Given the description of an element on the screen output the (x, y) to click on. 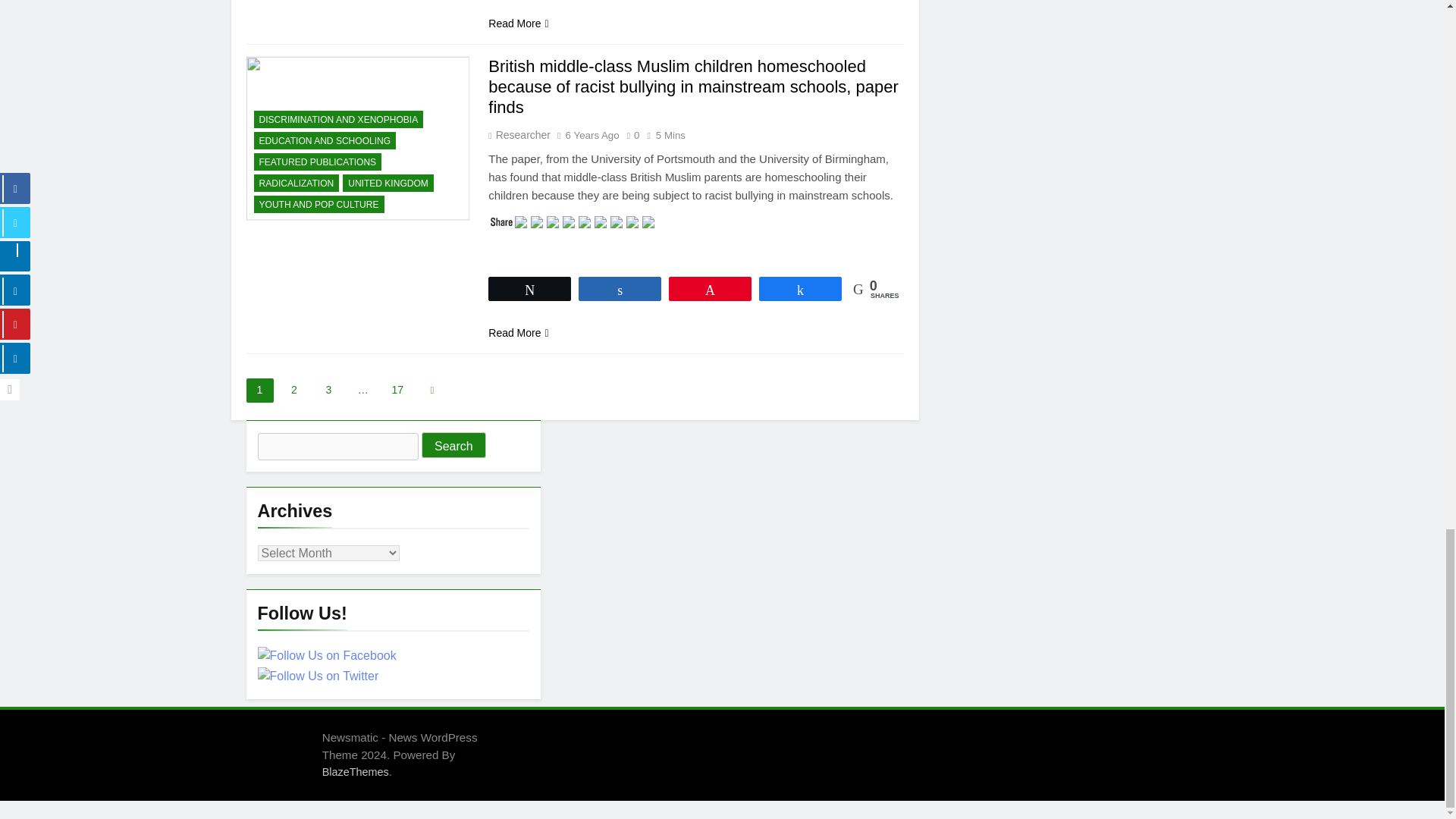
Search (454, 444)
